Given the description of an element on the screen output the (x, y) to click on. 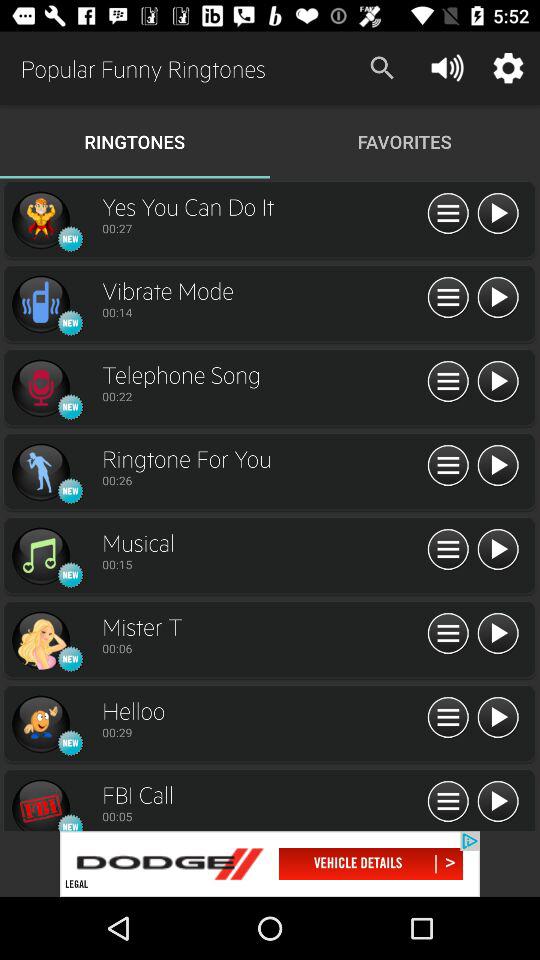
game icon (40, 724)
